Given the description of an element on the screen output the (x, y) to click on. 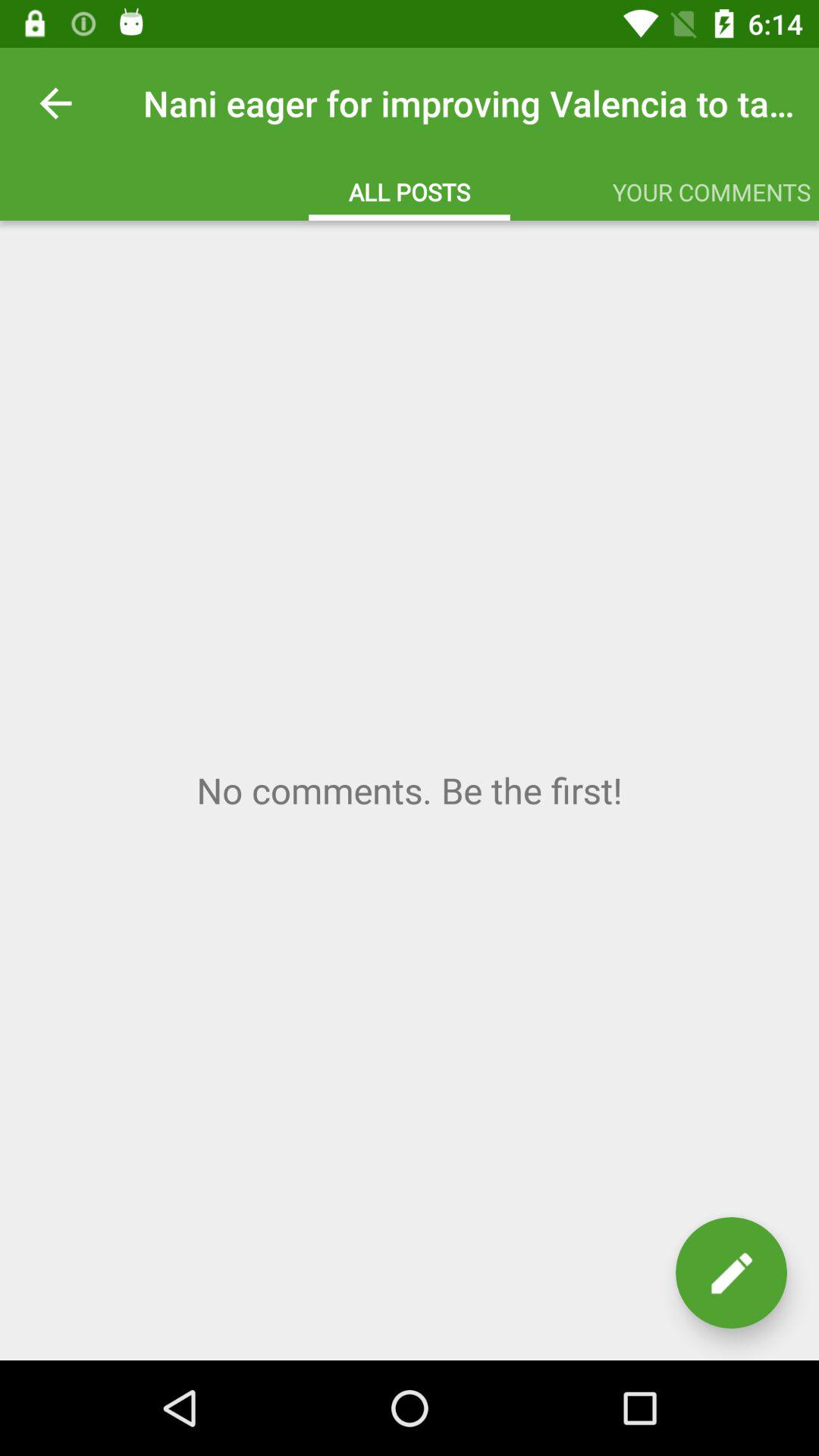
launch item at the bottom right corner (731, 1272)
